Given the description of an element on the screen output the (x, y) to click on. 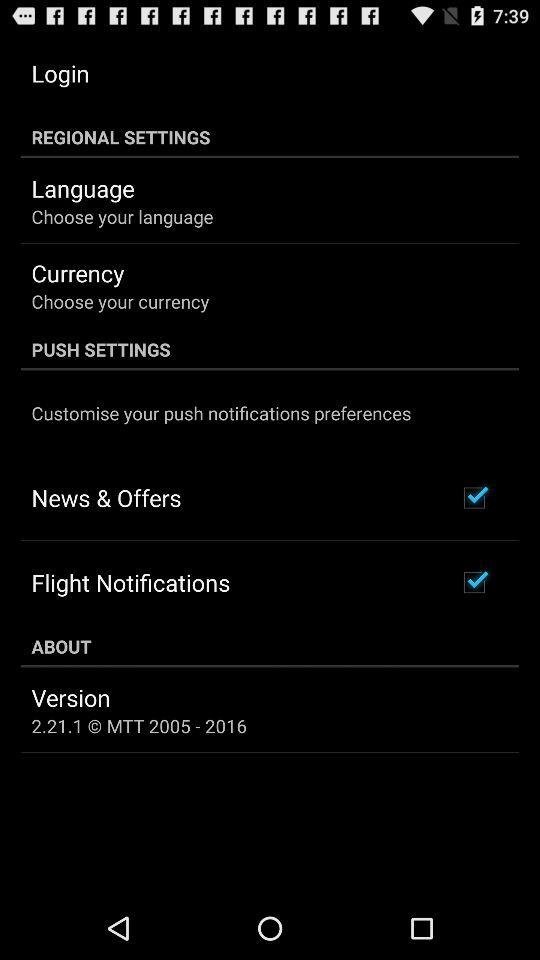
flip to the push settings icon (270, 349)
